Given the description of an element on the screen output the (x, y) to click on. 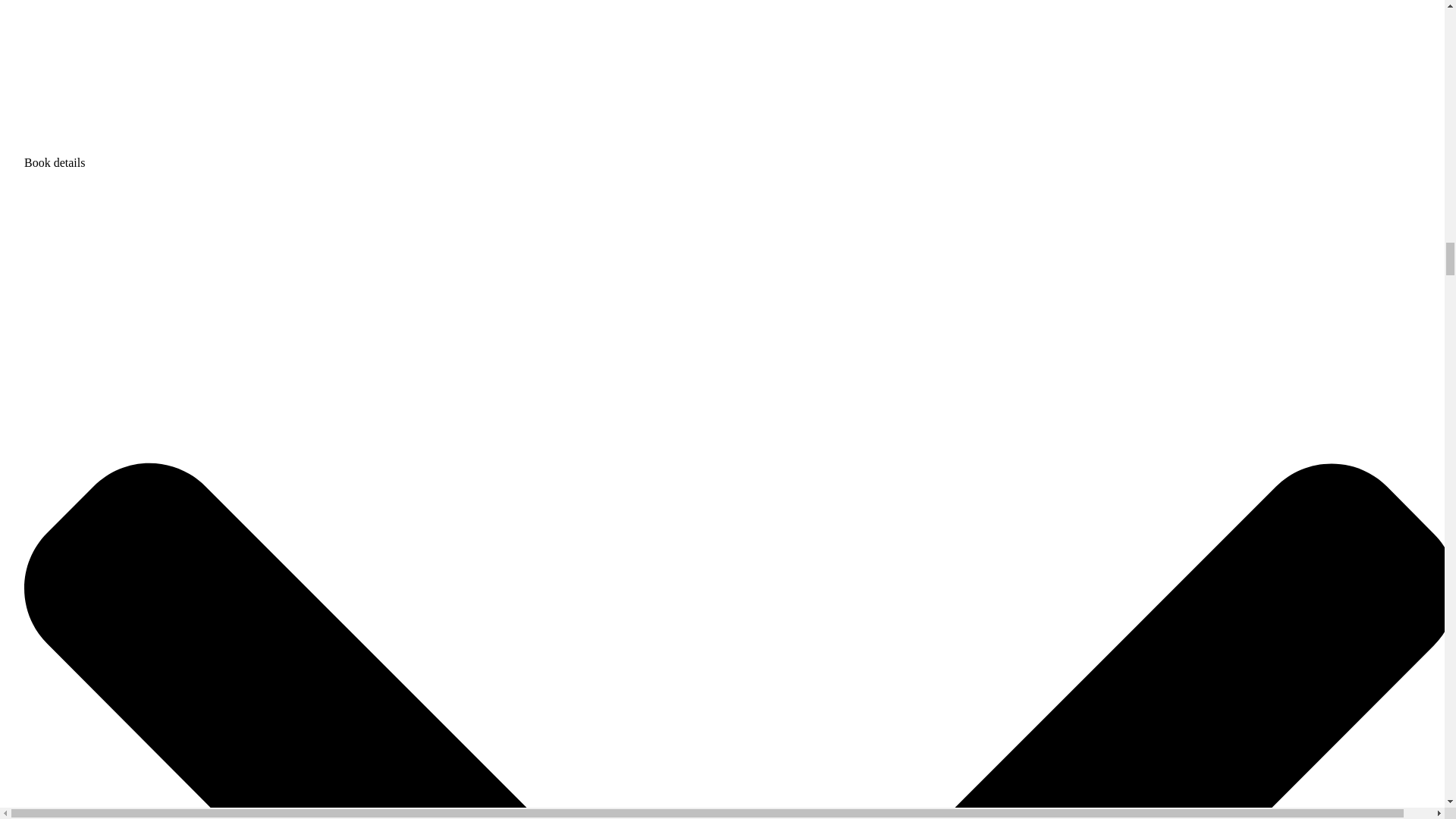
Book details (740, 155)
